Given the description of an element on the screen output the (x, y) to click on. 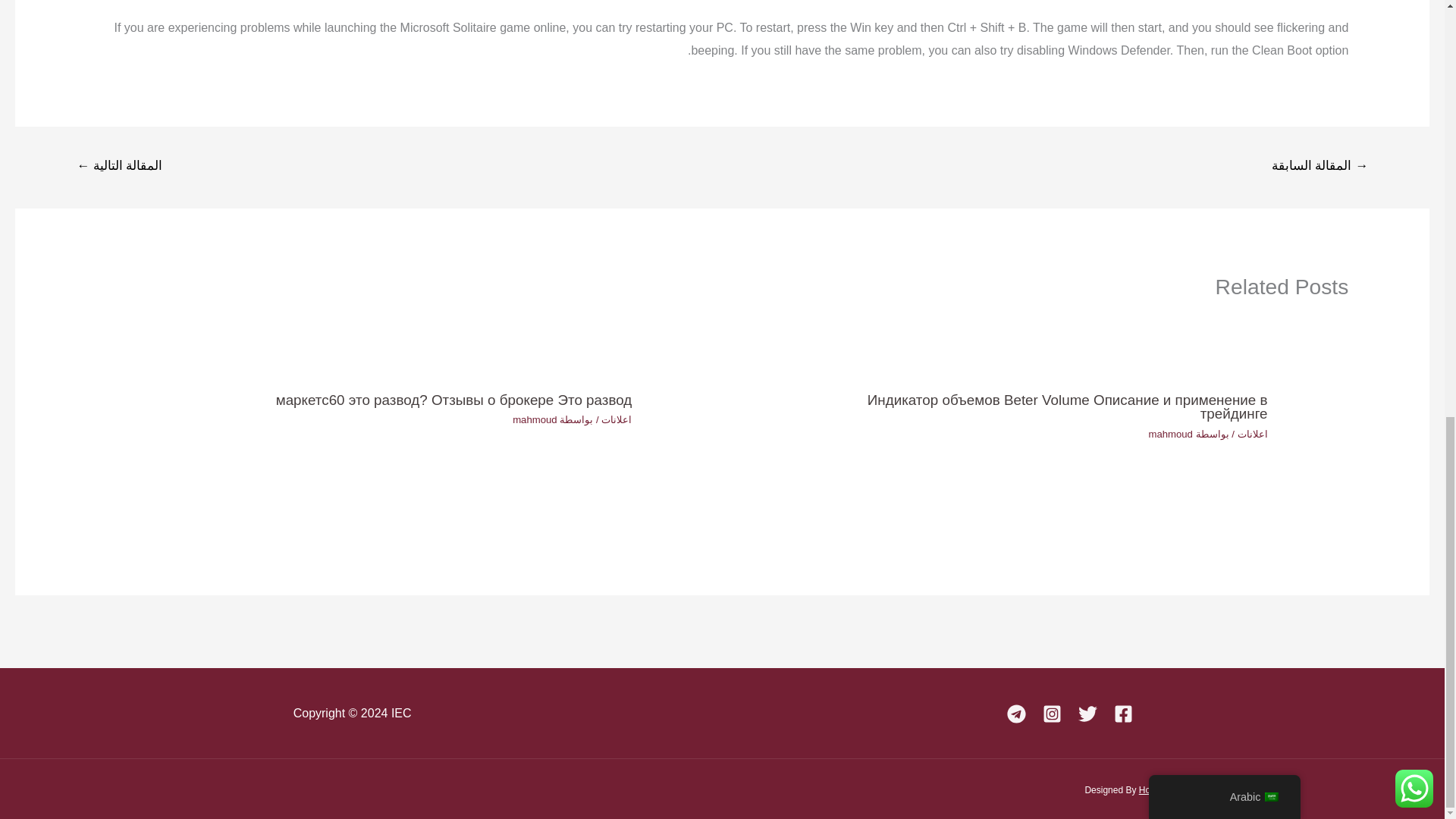
mahmoud (1170, 433)
mahmoud (534, 419)
